Given the description of an element on the screen output the (x, y) to click on. 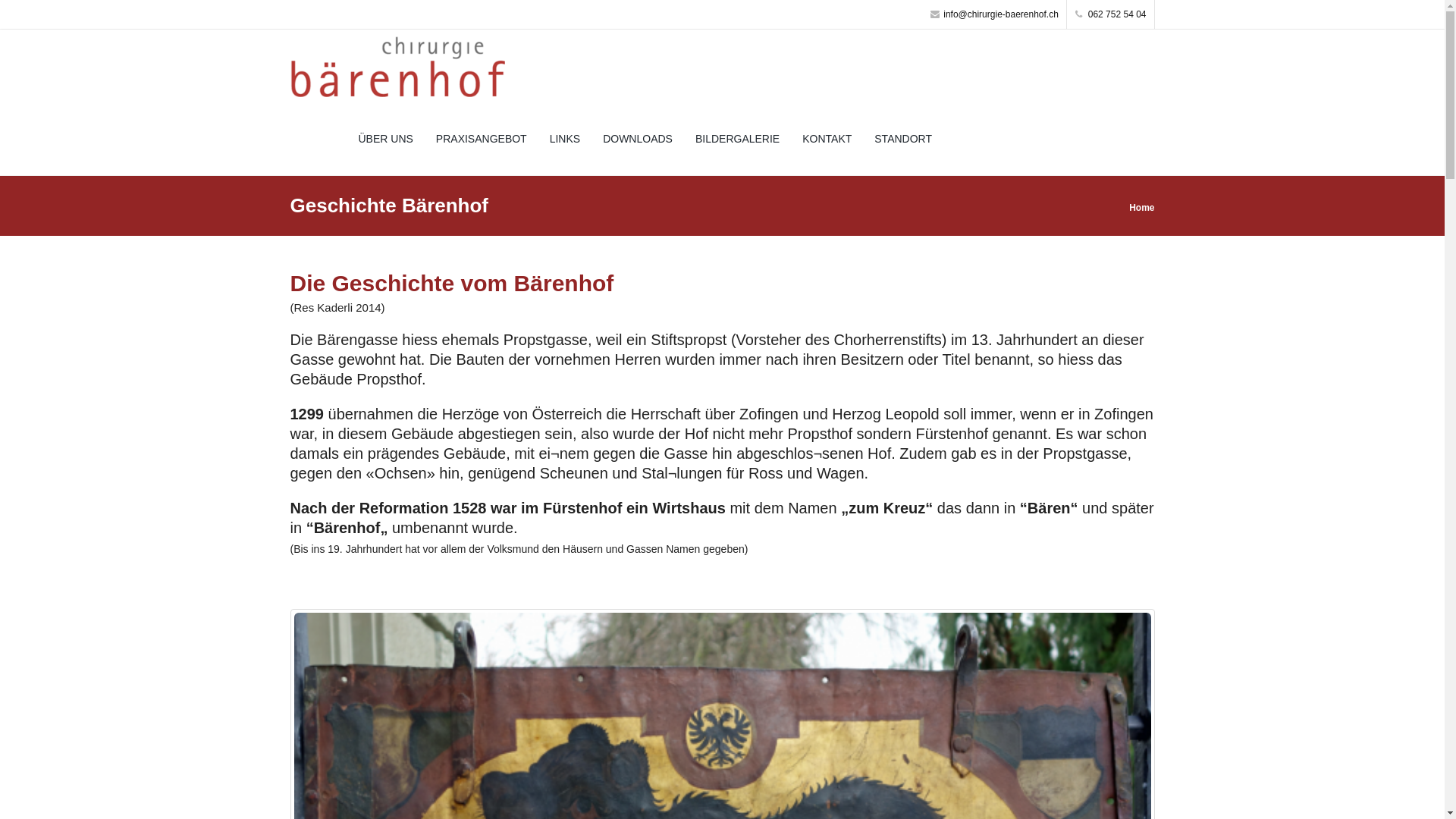
LINKS Element type: text (564, 138)
DOWNLOADS Element type: text (637, 138)
BILDERGALERIE Element type: text (737, 138)
KONTAKT Element type: text (826, 138)
 062 752 54 04 Element type: text (1110, 14)
Home Element type: text (1141, 206)
info@chirurgie-baerenhof.ch Element type: text (994, 14)
PRAXISANGEBOT Element type: text (481, 138)
STANDORT Element type: text (902, 138)
